Given the description of an element on the screen output the (x, y) to click on. 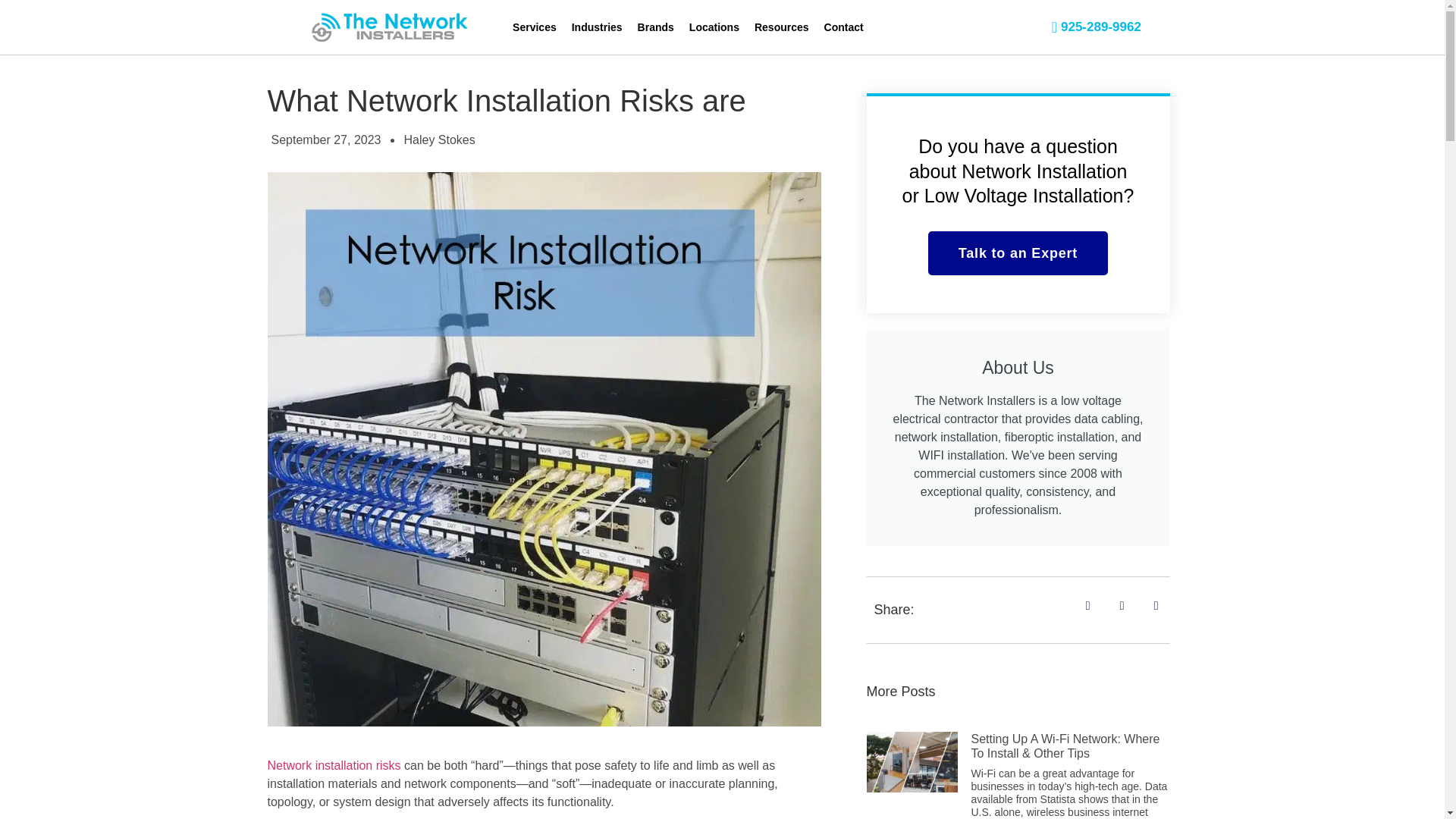
Services (534, 27)
Industries (597, 27)
Brands (655, 27)
